Given the description of an element on the screen output the (x, y) to click on. 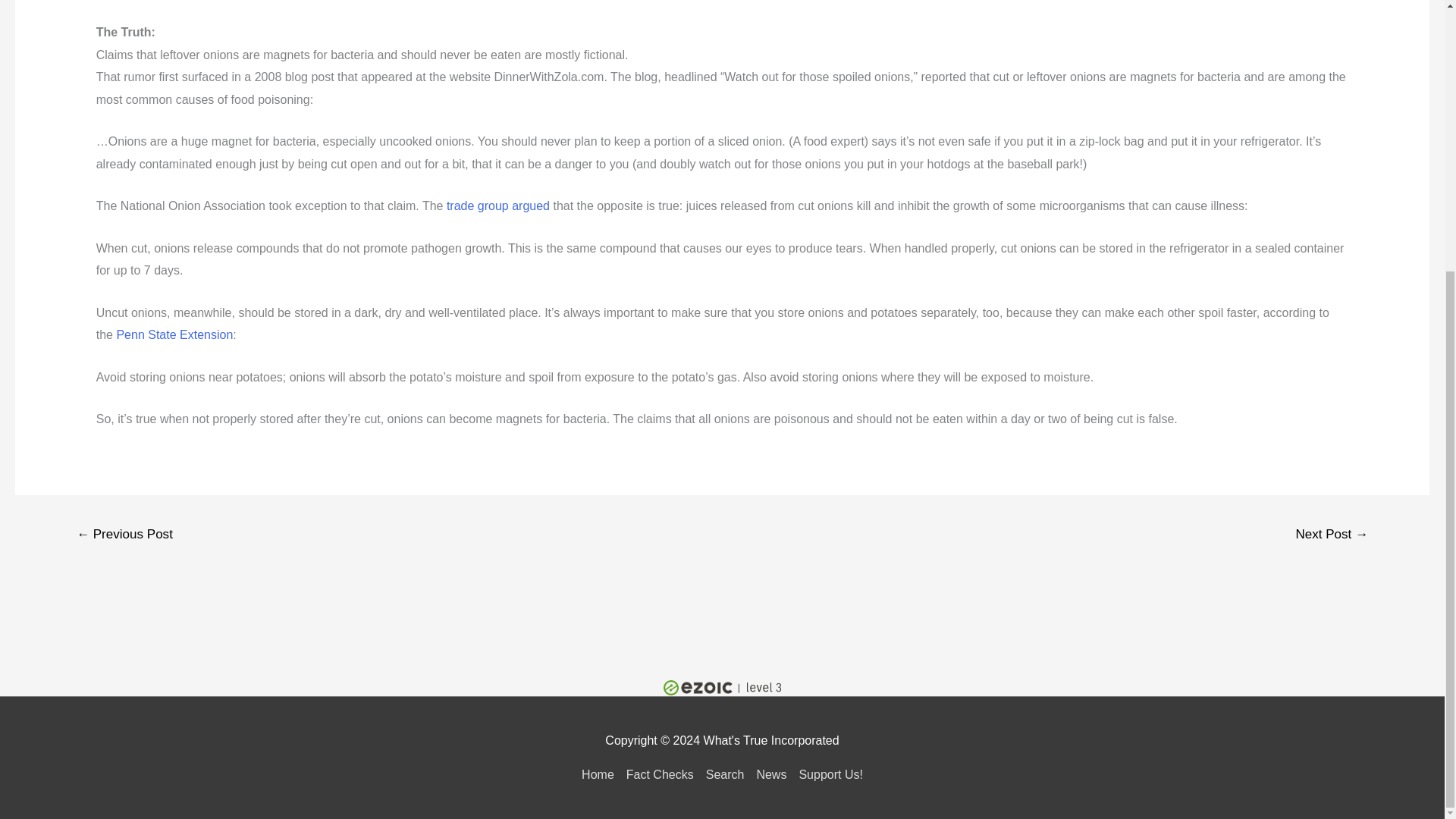
trade group argued (498, 205)
Search (725, 774)
Penn State Extension (174, 334)
News (770, 774)
Home (600, 774)
Support Us! (826, 774)
Fact Checks (660, 774)
